Given the description of an element on the screen output the (x, y) to click on. 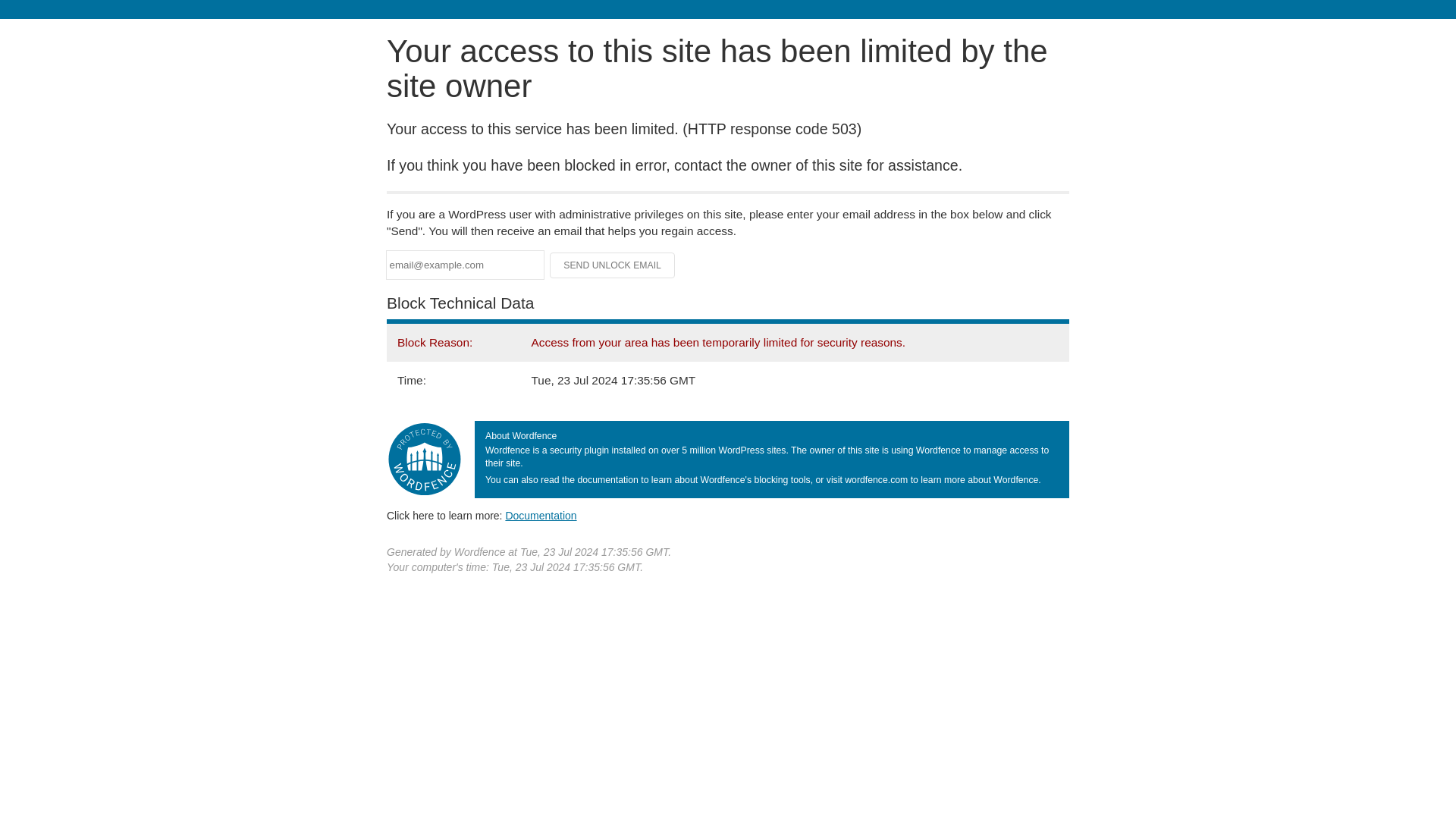
Send Unlock Email (612, 265)
Documentation (540, 515)
Send Unlock Email (612, 265)
